Given the description of an element on the screen output the (x, y) to click on. 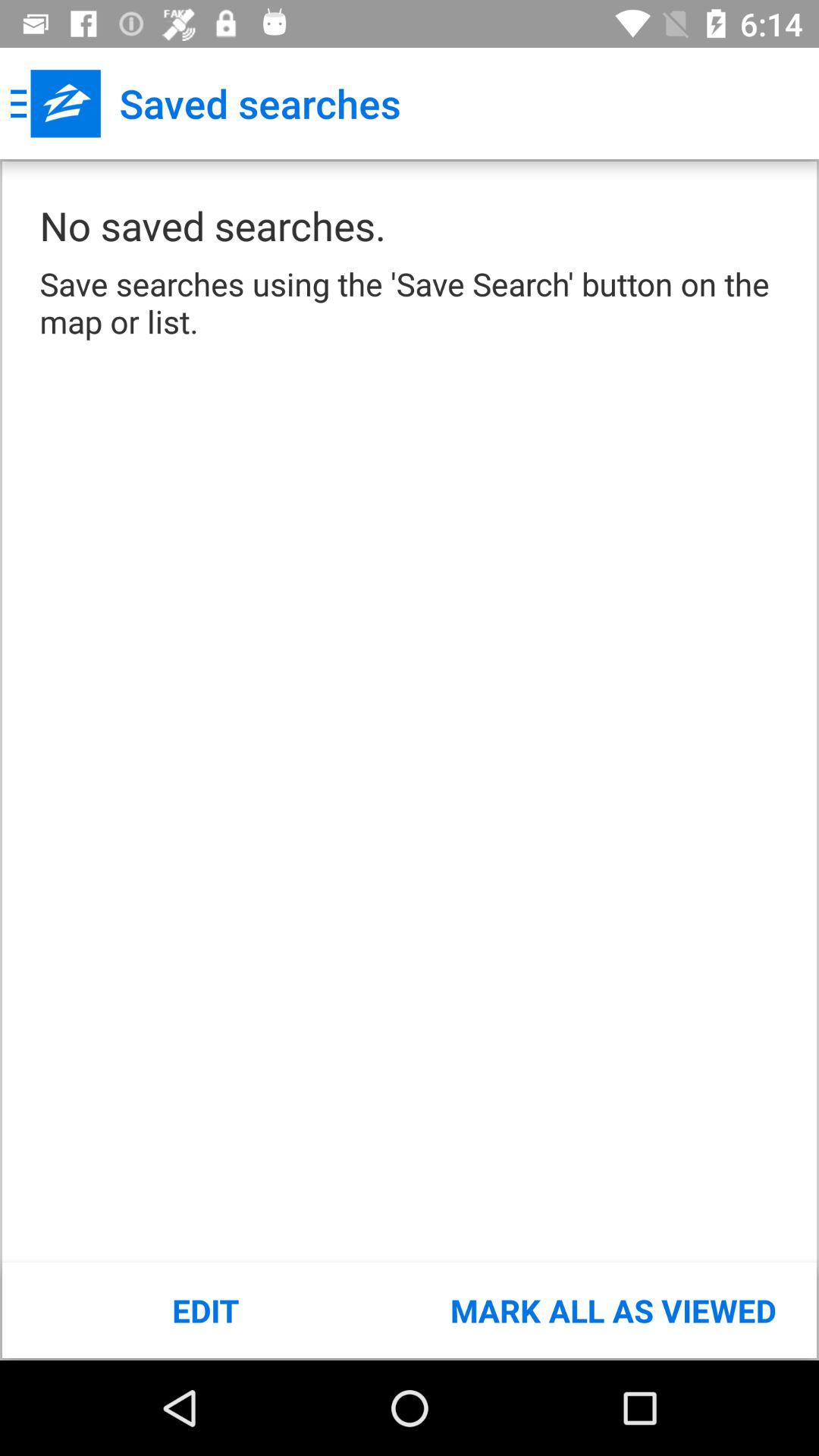
launch the icon to the left of the mark all as icon (205, 1310)
